Given the description of an element on the screen output the (x, y) to click on. 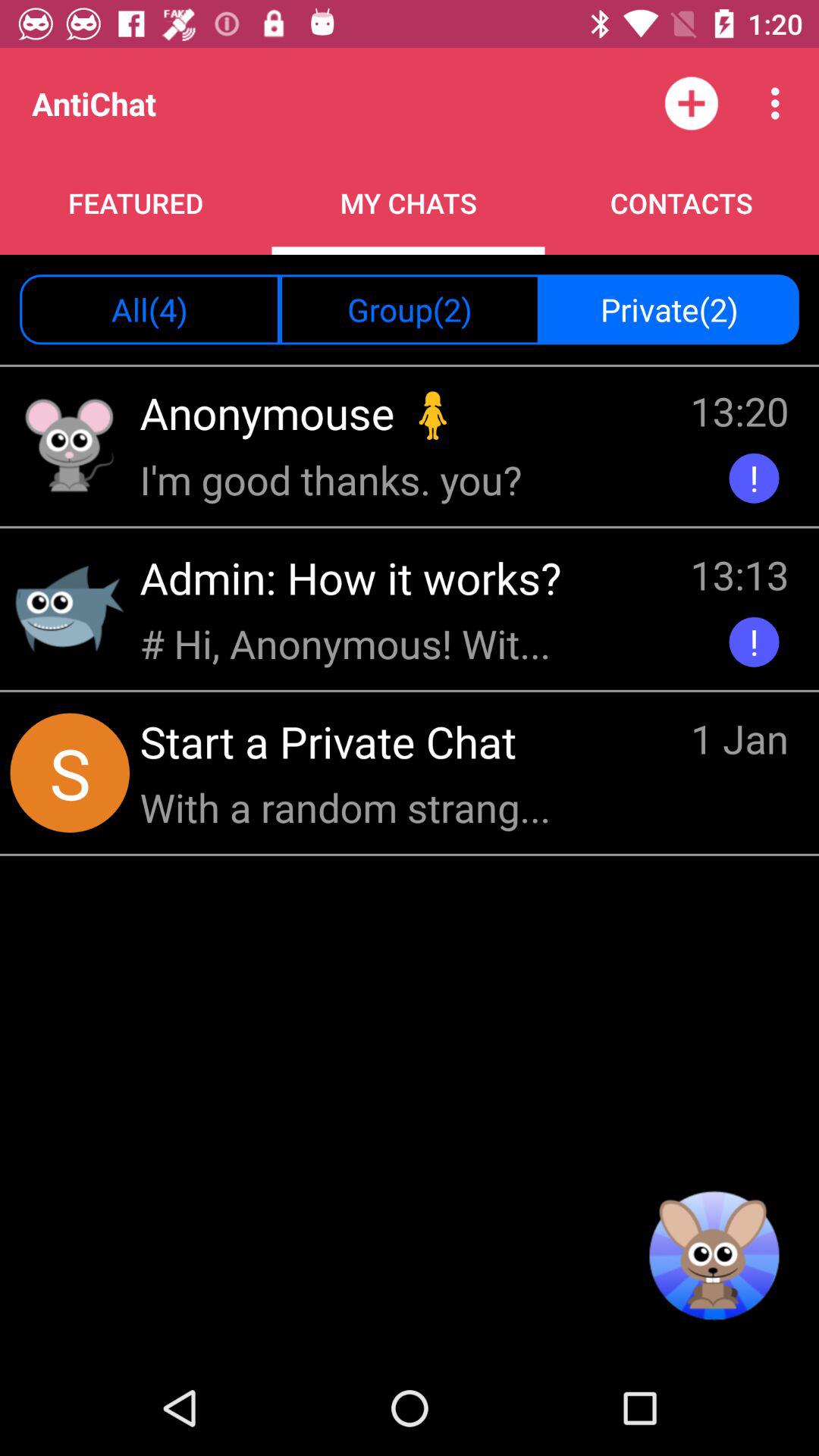
open item above the with a random item (333, 741)
